Given the description of an element on the screen output the (x, y) to click on. 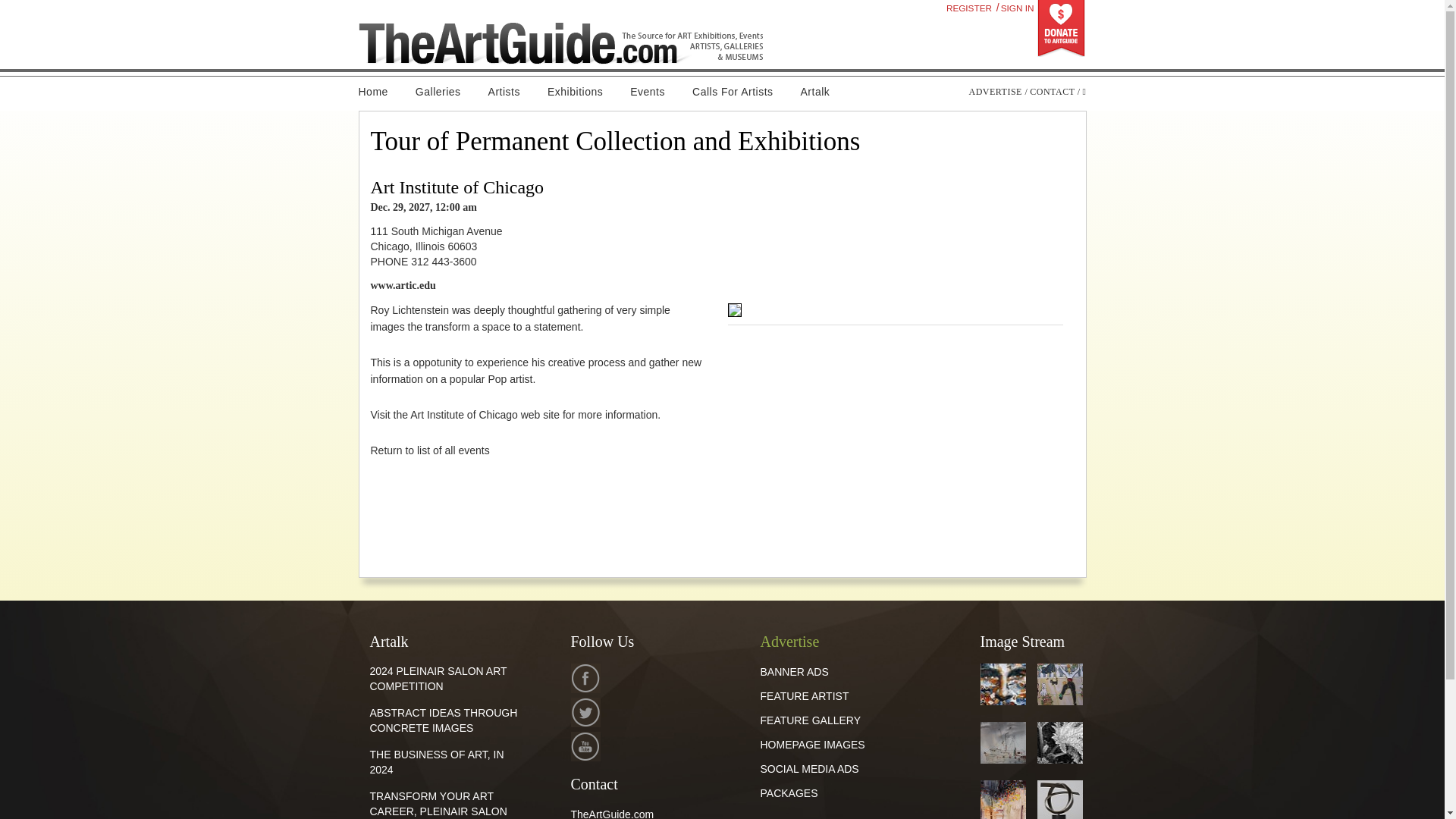
ABSTRACT IDEAS THROUGH CONCRETE IMAGES (443, 719)
TRANSFORM YOUR ART CAREER, PLEINAIR SALON ART COMPETITION (437, 804)
Events (646, 91)
HOMEPAGE IMAGES (812, 744)
SOCIAL MEDIA ADS (809, 768)
SIGN IN (1016, 8)
FEATURE GALLERY (810, 720)
THE BUSINESS OF ART, IN 2024 (436, 761)
Galleries (437, 91)
Home (379, 91)
Artists (504, 91)
PACKAGES (788, 793)
Exhibitions (574, 91)
Calls For Artists (732, 91)
BANNER ADS (794, 671)
